Given the description of an element on the screen output the (x, y) to click on. 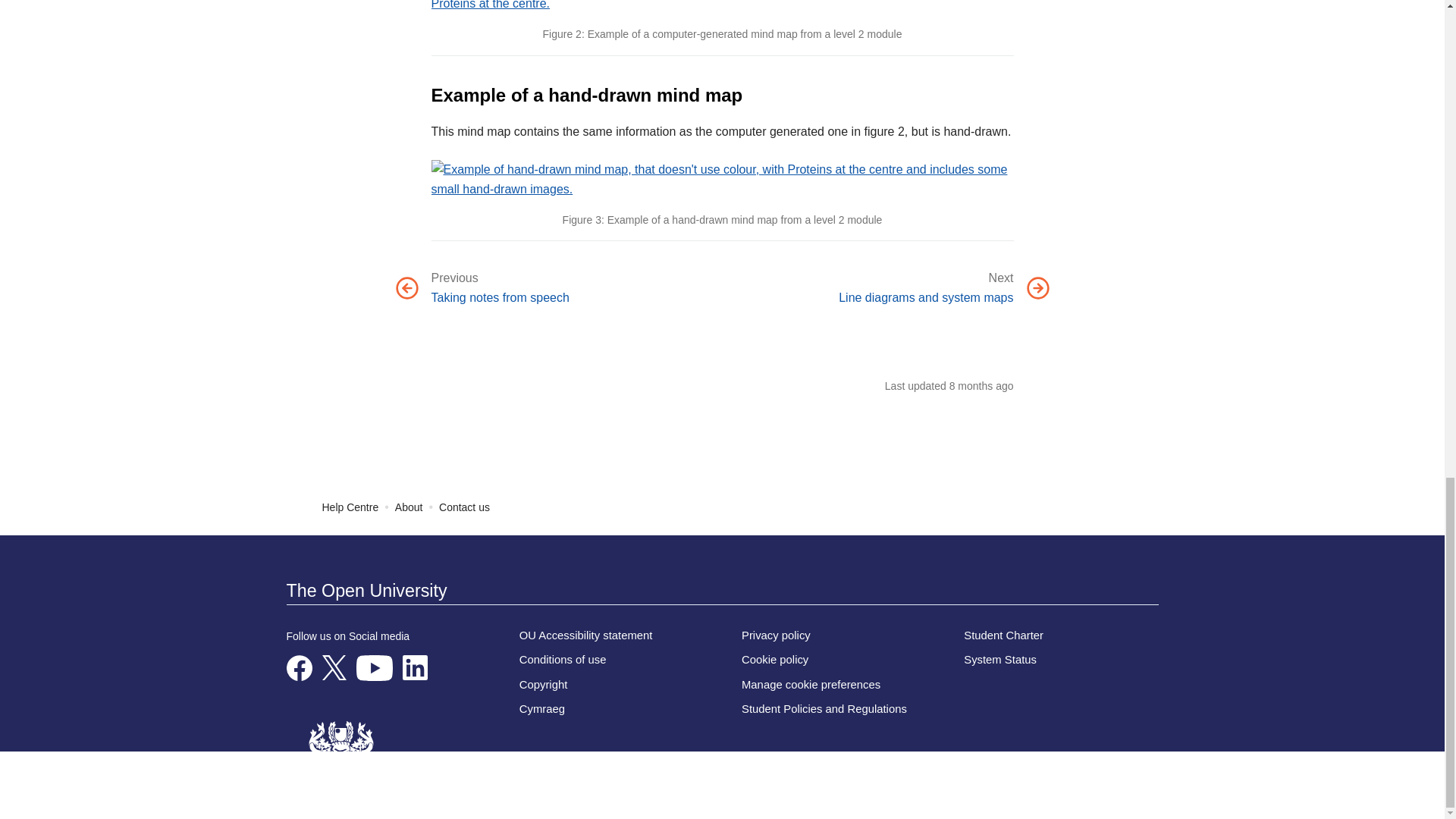
Youtube (374, 667)
Facebook (299, 667)
Facebook (299, 667)
LinkedIn (413, 667)
Twitter (333, 667)
YouTube (374, 667)
